Given the description of an element on the screen output the (x, y) to click on. 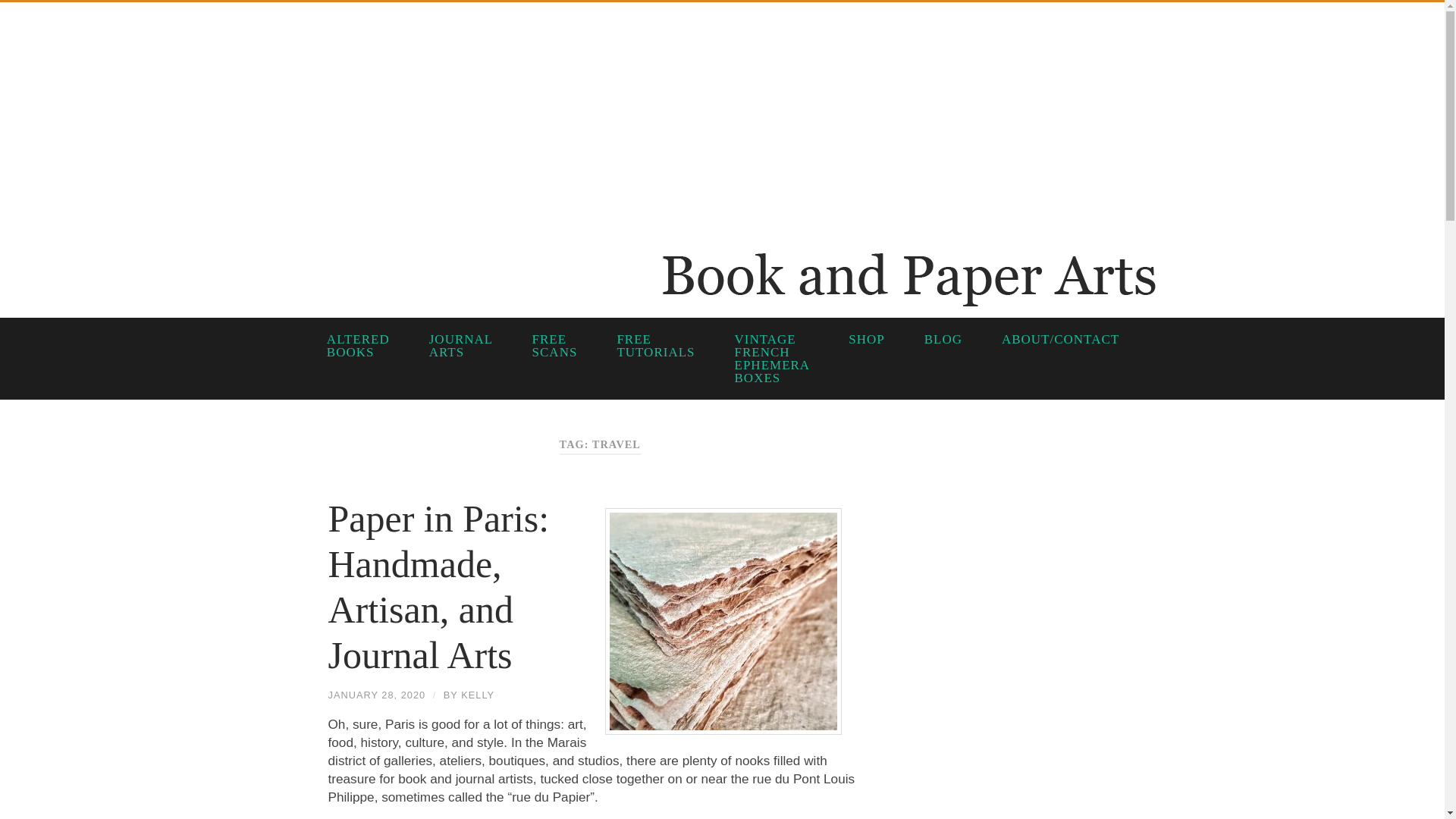
SHOP (865, 339)
FREE SCANS (554, 345)
Paper in Paris: Handmade, Artisan, and Journal Arts (437, 586)
BLOG (942, 339)
JANUARY 28, 2020 (376, 695)
Paper in Paris: Handmade, Artisan, and Journal Arts (376, 695)
FREE TUTORIALS (654, 345)
ALTERED BOOKS (357, 345)
JOURNAL ARTS (460, 345)
Paper in Paris: Handmade, Artisan, and Journal Arts (437, 586)
VINTAGE FRENCH EPHEMERA BOXES (771, 358)
